Given the description of an element on the screen output the (x, y) to click on. 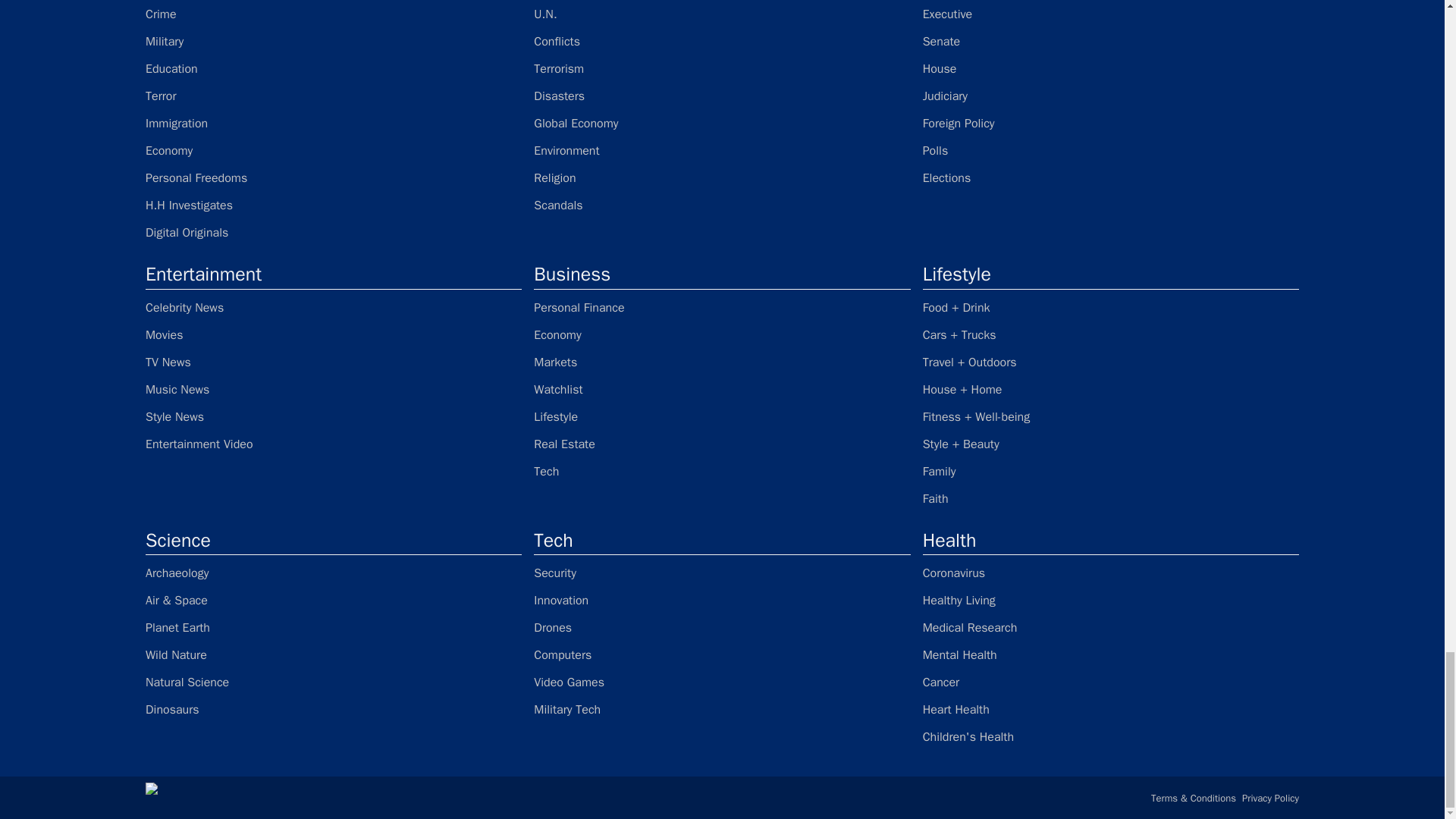
Religion (722, 178)
U.N. (722, 14)
H.H Investigates (333, 205)
Economy (333, 150)
Terror (333, 96)
Personal Freedoms (333, 178)
Terrorism (722, 68)
Global Economy (722, 123)
Crime (333, 14)
Military (333, 41)
